Given the description of an element on the screen output the (x, y) to click on. 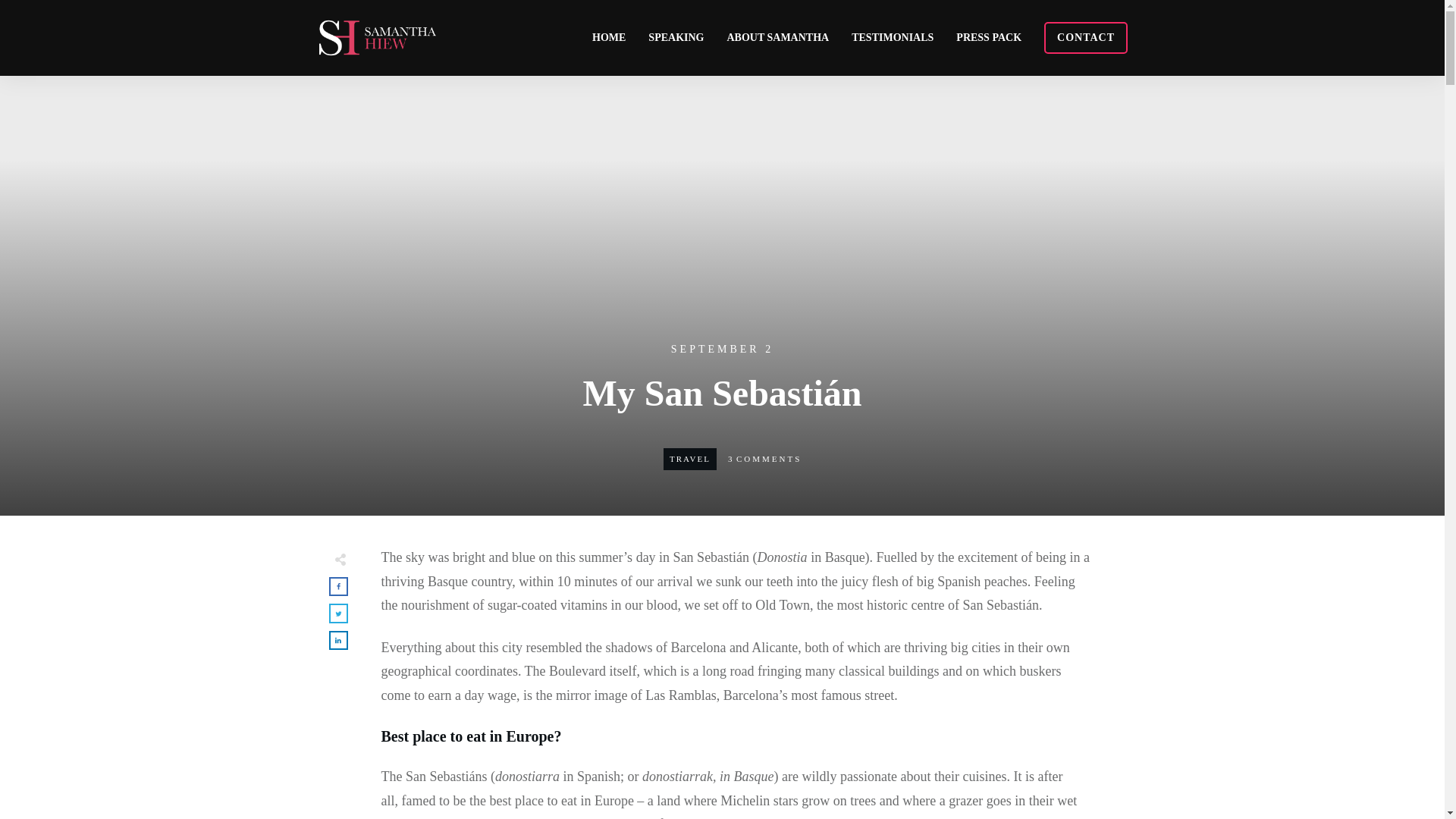
PRESS PACK (989, 37)
TESTIMONIALS (892, 37)
SPEAKING (675, 37)
CONTACT (1086, 37)
TRAVEL (689, 458)
ABOUT SAMANTHA (777, 37)
HOME (609, 37)
SPEAKING (675, 37)
CONTACT (1086, 37)
HOME (609, 37)
